Given the description of an element on the screen output the (x, y) to click on. 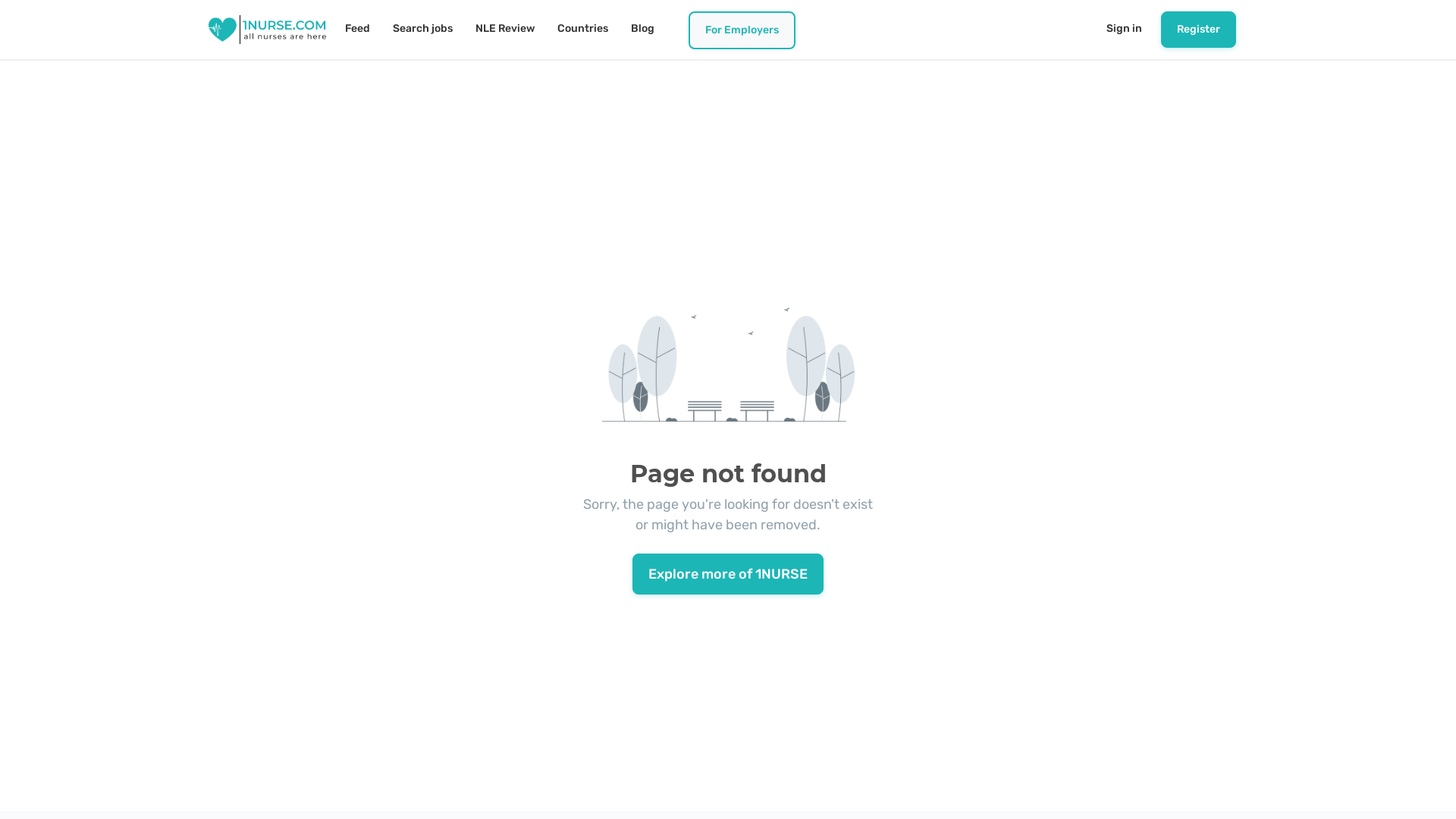
For Employers Element type: text (741, 30)
For Employers Element type: text (741, 30)
Search jobs Element type: text (422, 29)
NLE Review Element type: text (504, 29)
Register Element type: text (1198, 29)
Explore more of 1NURSE Element type: text (727, 573)
Explore more of 1NURSE Element type: text (727, 572)
Sign in Element type: text (1124, 29)
Blog Element type: text (642, 29)
Feed Element type: text (357, 29)
Countries Element type: text (582, 29)
Register Element type: text (1198, 30)
